Given the description of an element on the screen output the (x, y) to click on. 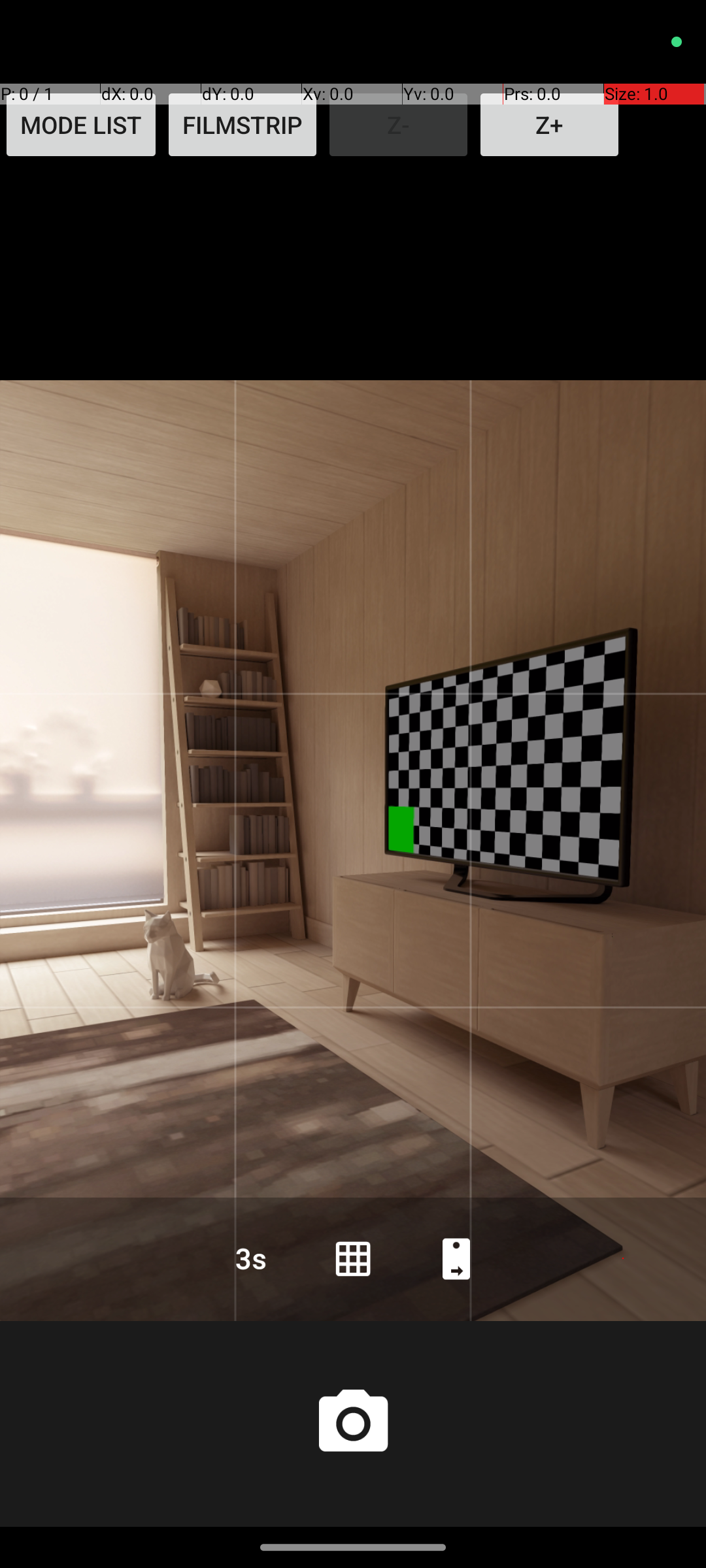
Countdown timer duration is set to 3 seconds Element type: android.widget.ImageButton (249, 1258)
Grid lines on Element type: android.widget.ImageButton (352, 1258)
